Given the description of an element on the screen output the (x, y) to click on. 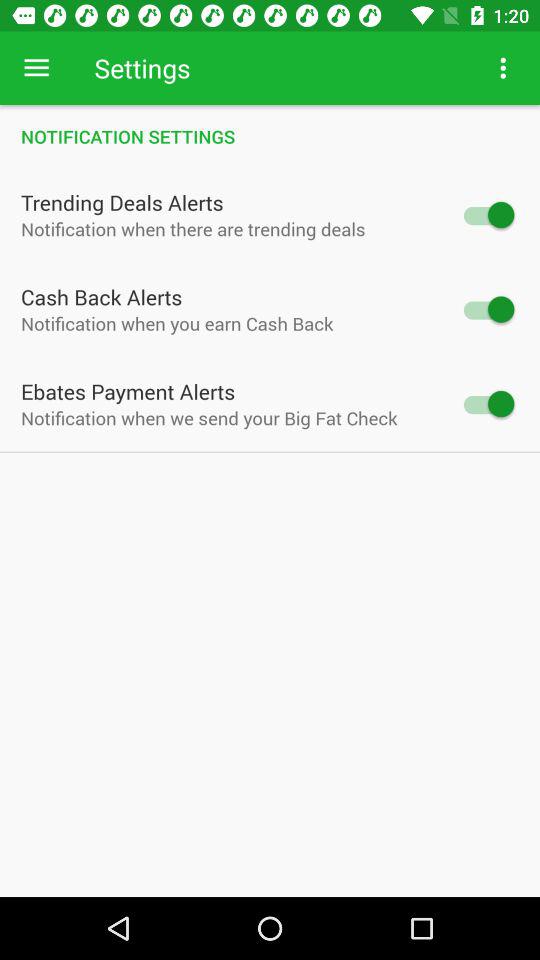
open app next to settings app (36, 68)
